Given the description of an element on the screen output the (x, y) to click on. 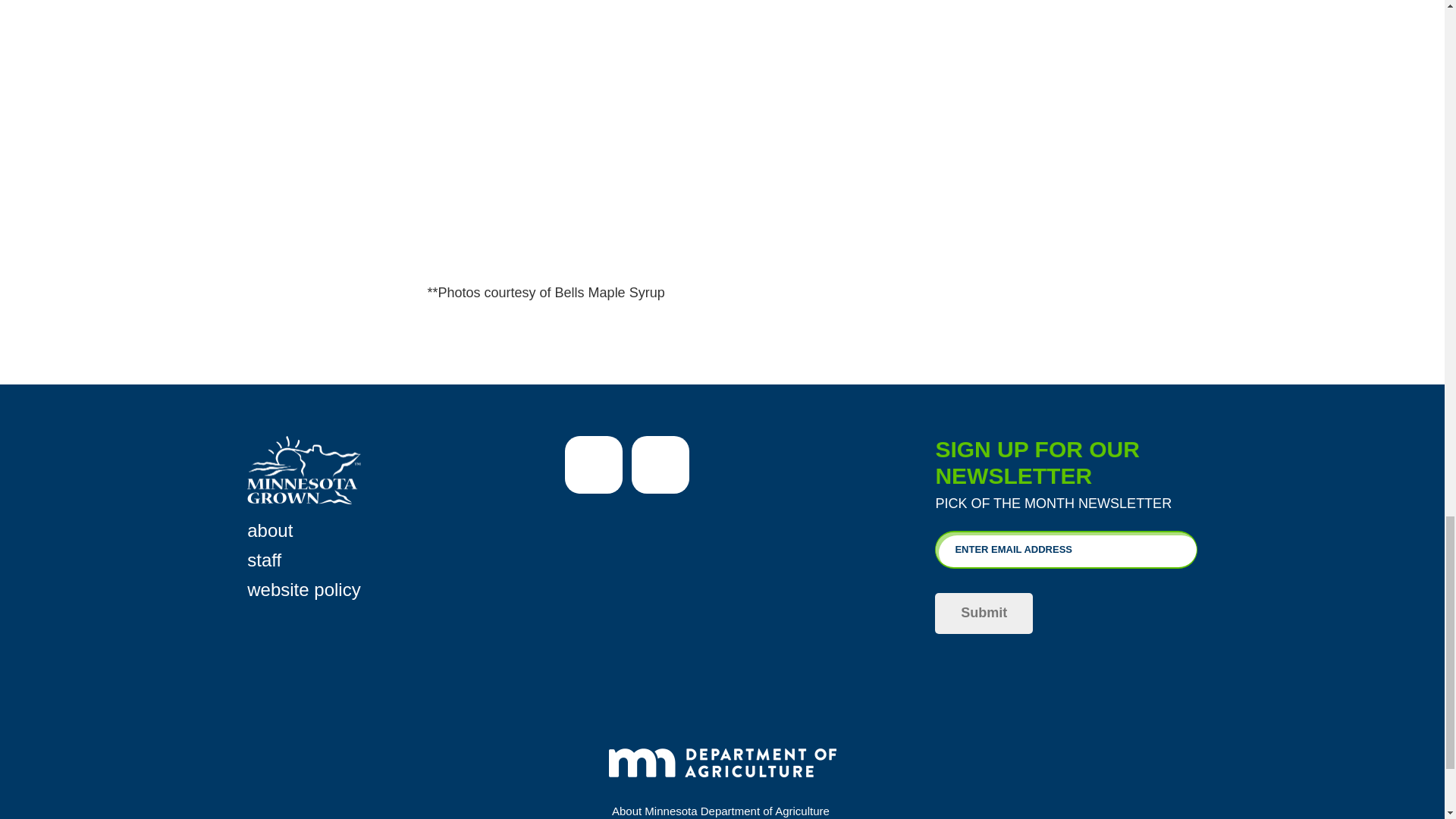
Submit (983, 612)
